Given the description of an element on the screen output the (x, y) to click on. 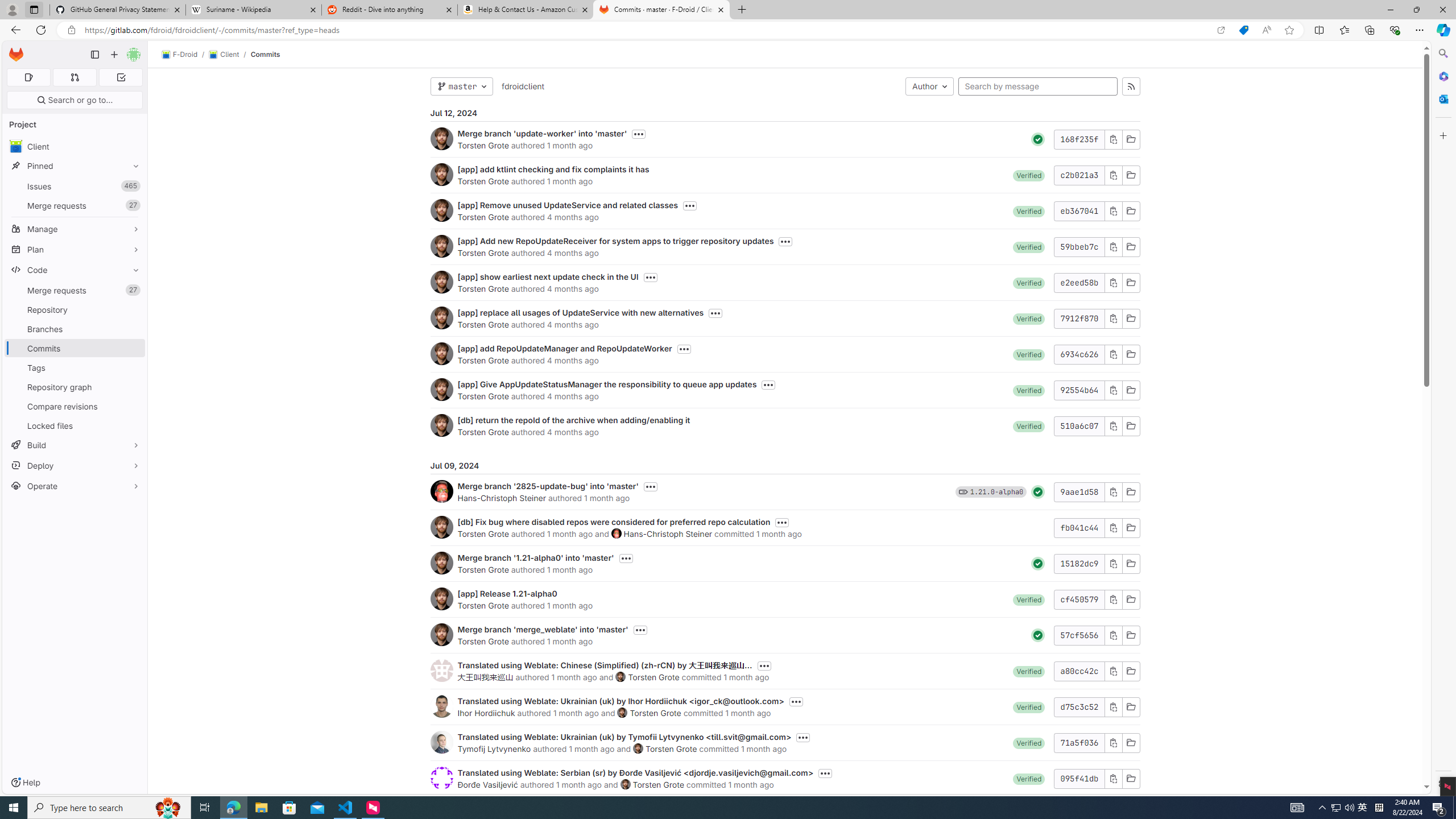
fdroidclient (522, 85)
Create new... (113, 54)
Open in app (1220, 29)
Author (929, 85)
Client (74, 145)
Issues465 (74, 185)
Commits (265, 53)
Issues 465 (74, 185)
